Given the description of an element on the screen output the (x, y) to click on. 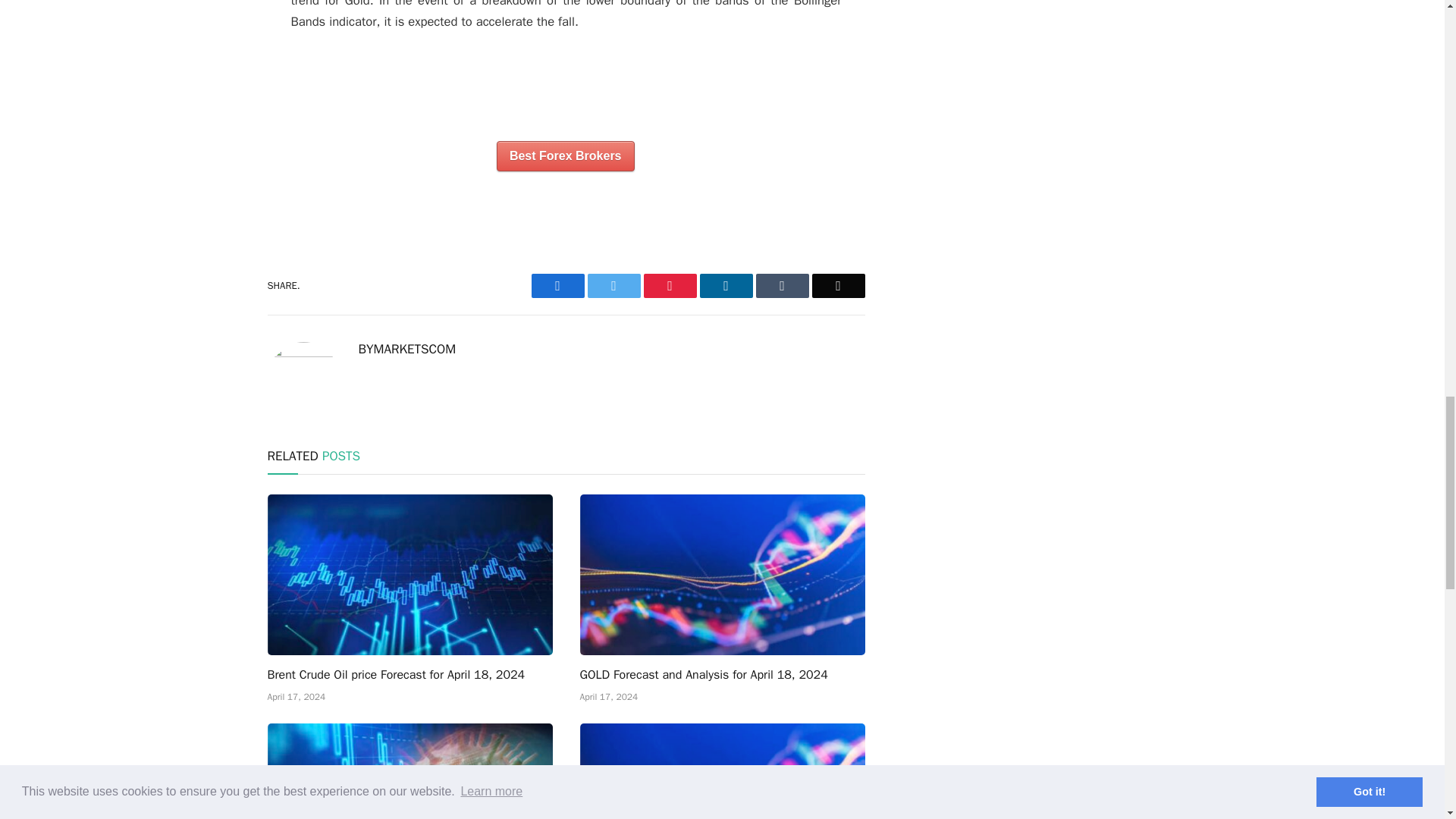
Share on Tumblr (781, 285)
Share on LinkedIn (725, 285)
Share on Facebook (557, 285)
Share on Twitter (613, 285)
Share on Pinterest (669, 285)
